Given the description of an element on the screen output the (x, y) to click on. 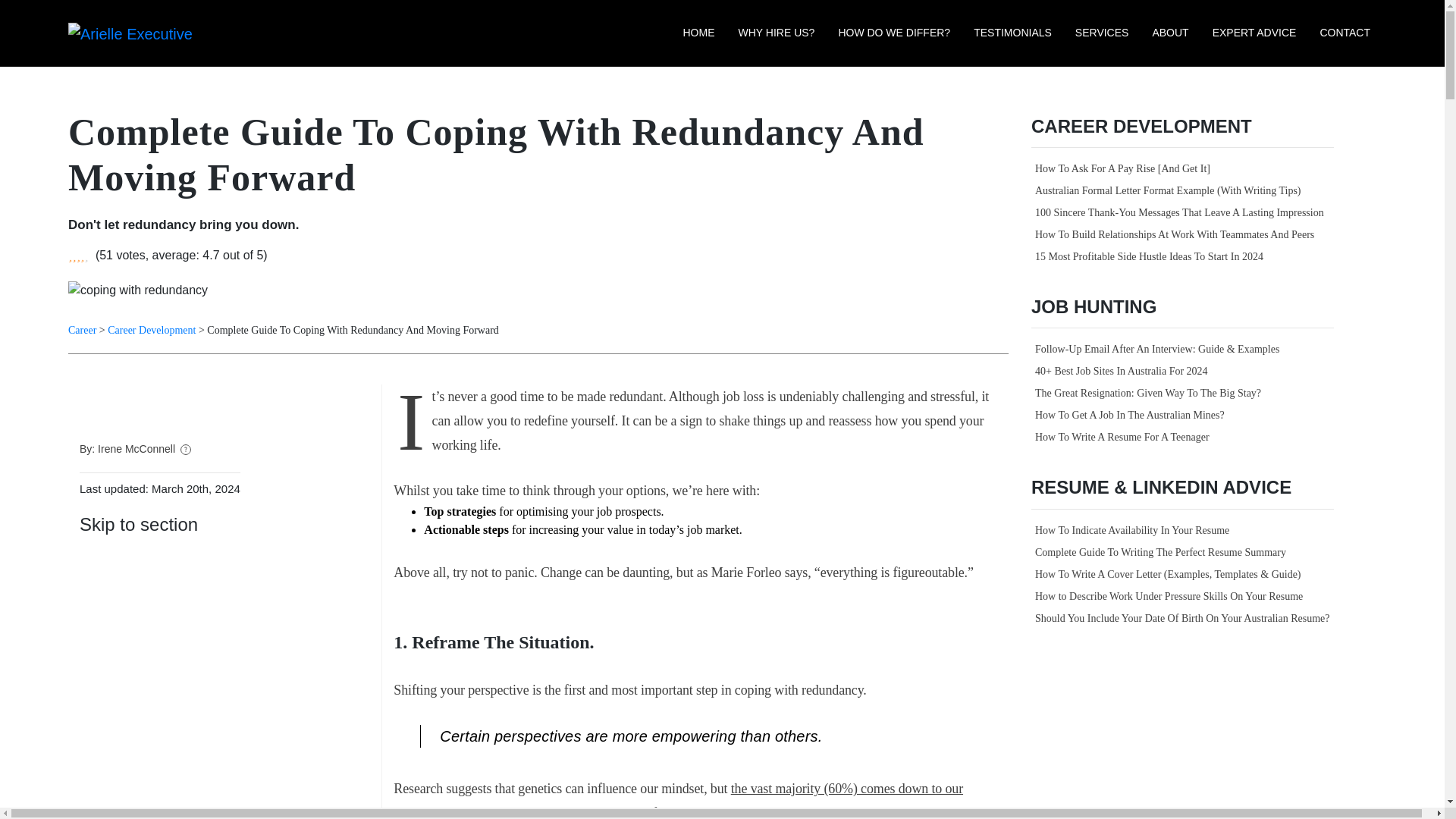
Career (82, 329)
ABOUT (1169, 32)
Testimonials (1013, 32)
SERVICES (1101, 32)
Home (698, 32)
Services (1101, 32)
Why Hire Us? (776, 32)
Career Development (151, 329)
HOME (698, 32)
About (1169, 32)
